Given the description of an element on the screen output the (x, y) to click on. 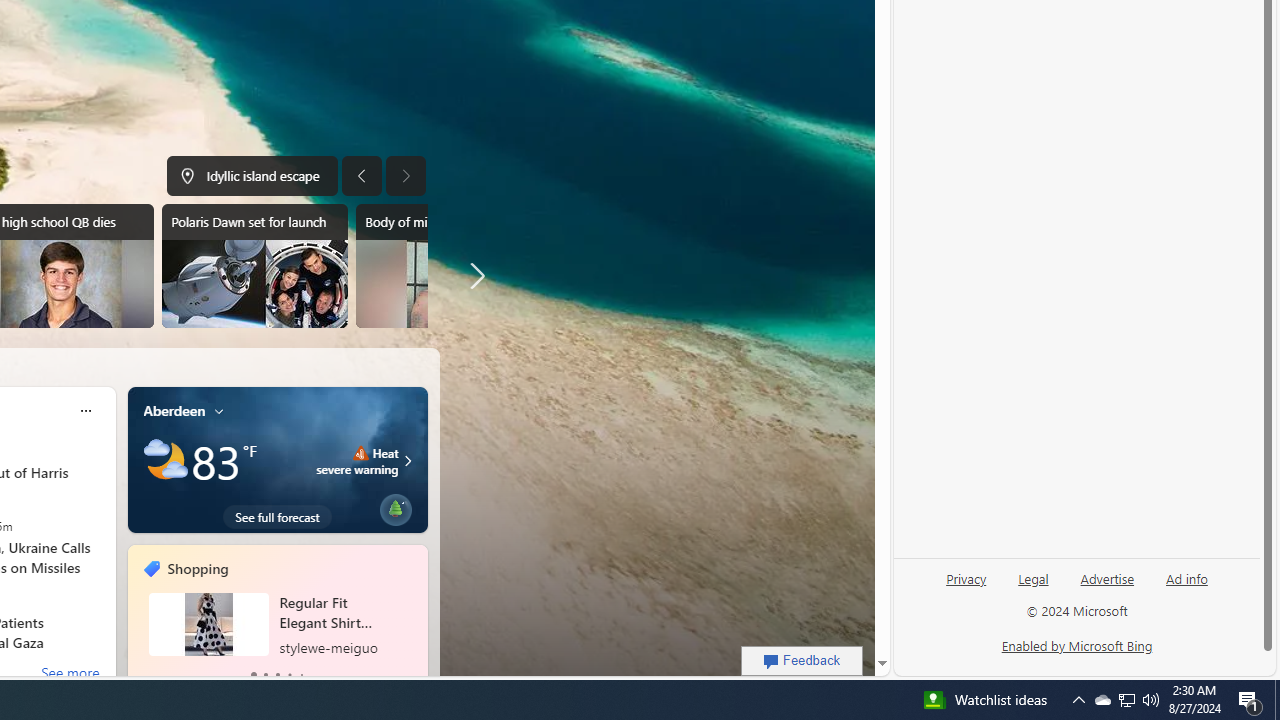
Partly cloudy (165, 461)
Grow a virtual seed into a real tree (395, 506)
tab-4 (301, 674)
Partly cloudy (165, 461)
Click to see more information (405, 460)
next (417, 617)
tab-3 (288, 674)
tab-1 (264, 674)
